Given the description of an element on the screen output the (x, y) to click on. 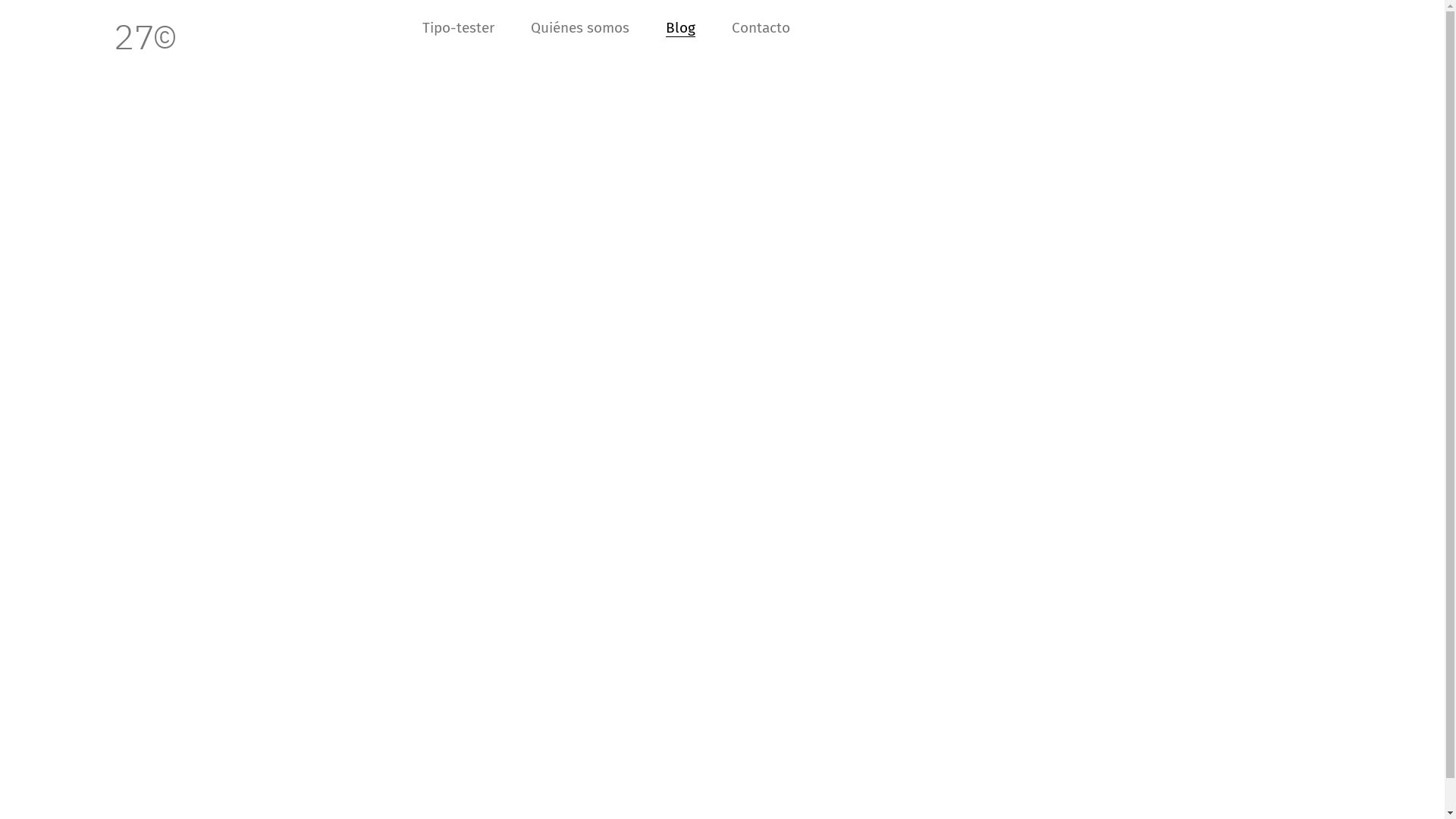
Contacto Element type: text (760, 27)
Blog Element type: text (680, 27)
LEER Element type: text (136, 283)
Facebook Element type: text (753, 795)
Tipo-tester Element type: text (458, 27)
